Given the description of an element on the screen output the (x, y) to click on. 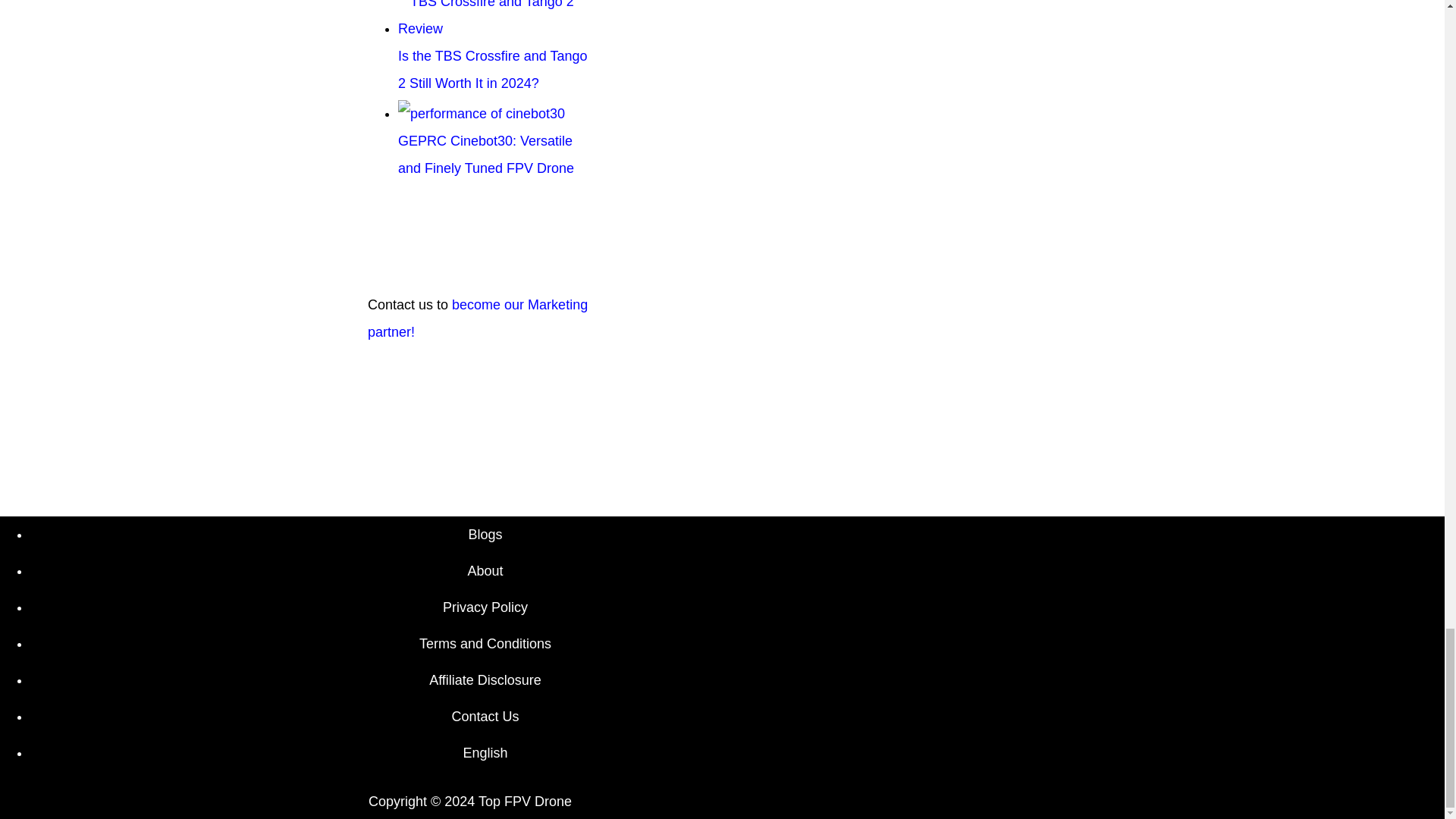
English (485, 752)
English (485, 752)
Affiliate Disclosure (485, 679)
Blogs (485, 534)
GEPRC Cinebot30: Versatile and Finely Tuned FPV Drone (485, 141)
Is the TBS Crossfire and Tango 2 Still Worth It in 2024? (496, 55)
Contact Us (485, 716)
Is the TBS Crossfire and Tango 2 Still Worth It in 2024? 4 (496, 21)
Terms and Conditions (485, 643)
become our Marketing partner! (478, 318)
Privacy Policy (485, 606)
GEPRC Cinebot30: Versatile and Finely Tuned FPV Drone 5 (480, 113)
About (485, 570)
